Given the description of an element on the screen output the (x, y) to click on. 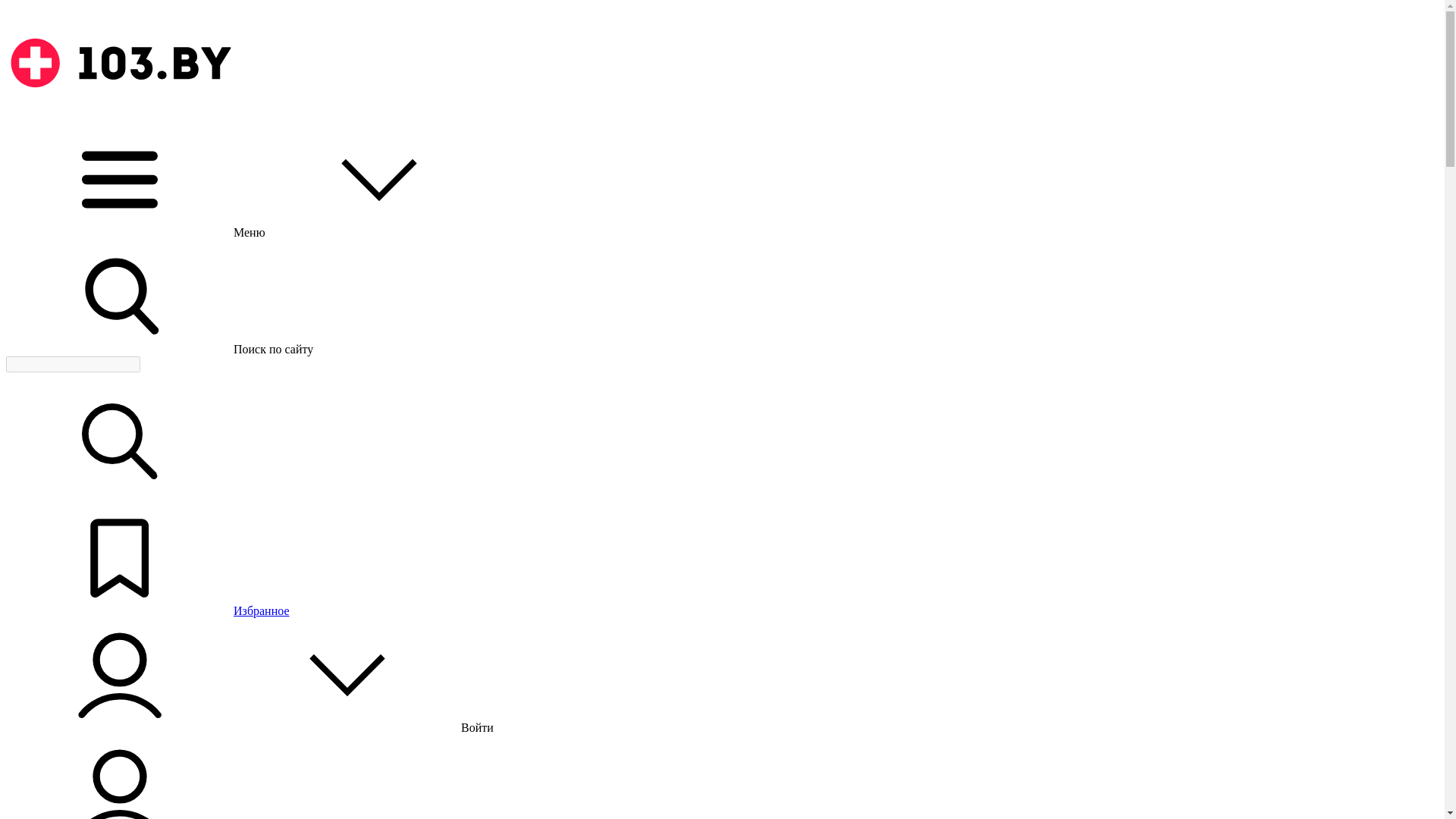
logo Element type: hover (119, 115)
logo Element type: hover (119, 62)
